Given the description of an element on the screen output the (x, y) to click on. 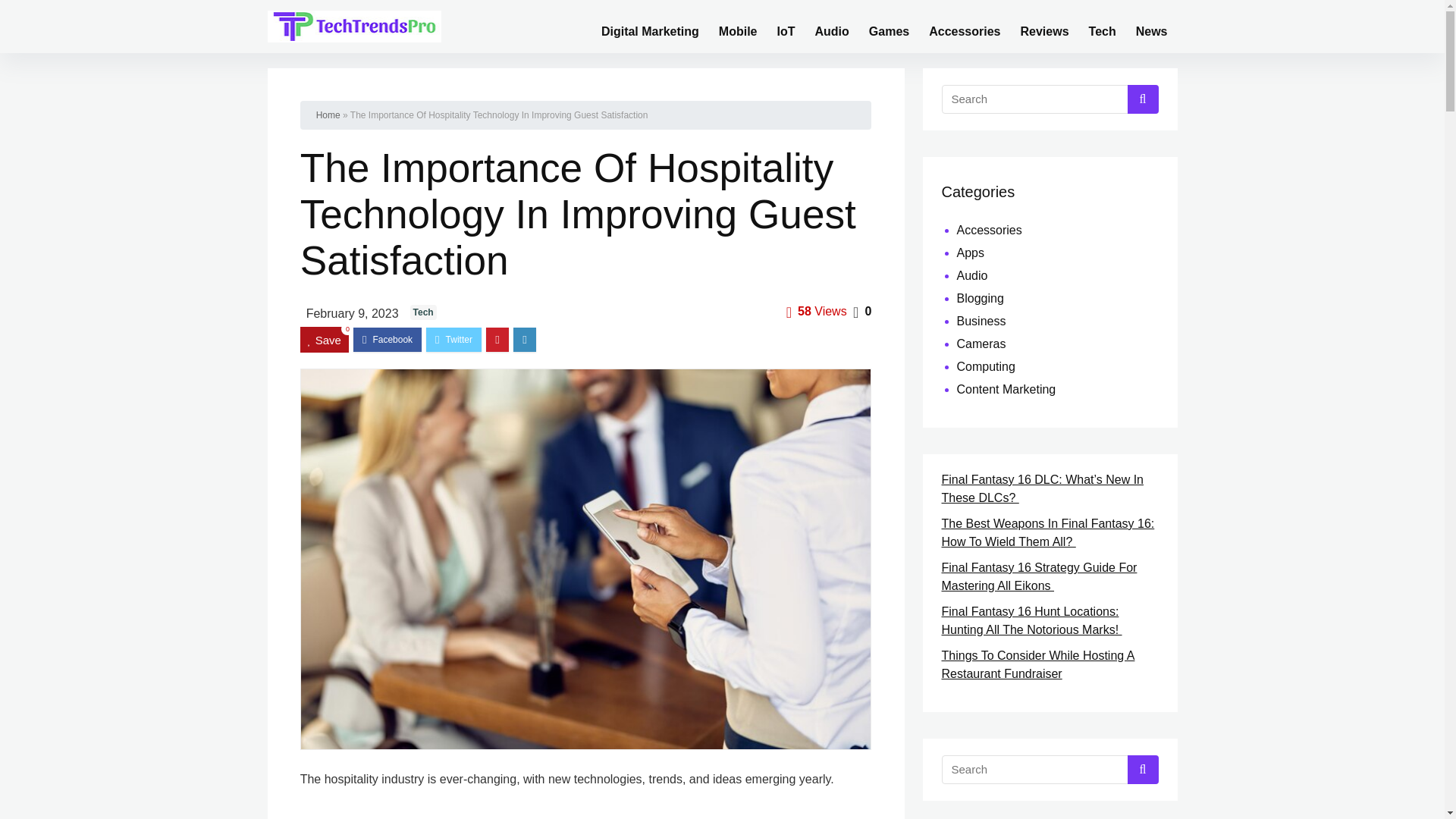
Digital Marketing (650, 25)
Games (888, 25)
News (1151, 25)
Mobile (738, 25)
Tech (423, 312)
IoT (786, 25)
Tech (1101, 25)
Audio (832, 25)
Accessories (964, 25)
Reviews (1044, 25)
Home (327, 114)
